Given the description of an element on the screen output the (x, y) to click on. 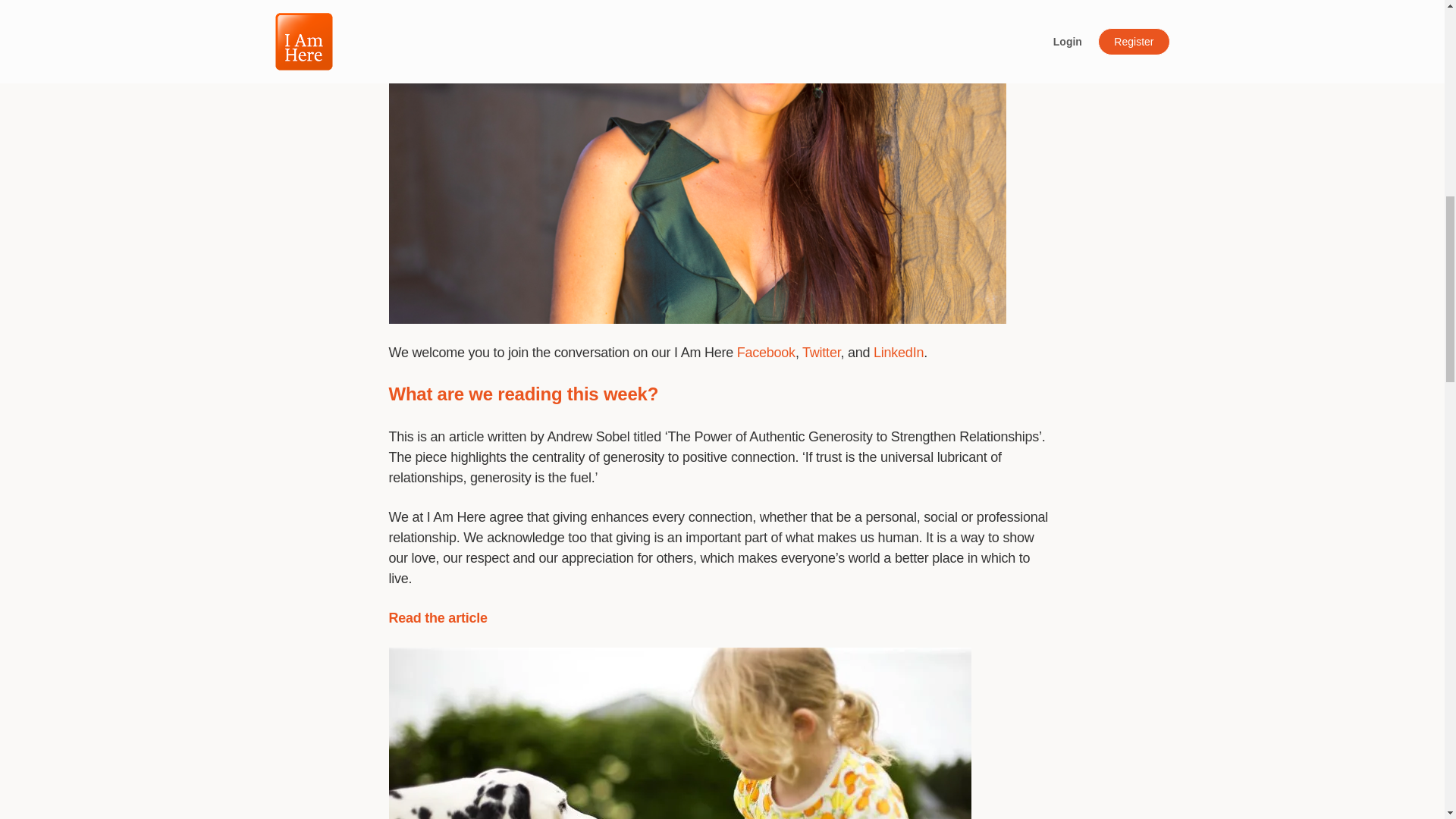
Twitter (821, 352)
Facebook (765, 352)
Read the article (437, 617)
LinkedIn (898, 352)
